Given the description of an element on the screen output the (x, y) to click on. 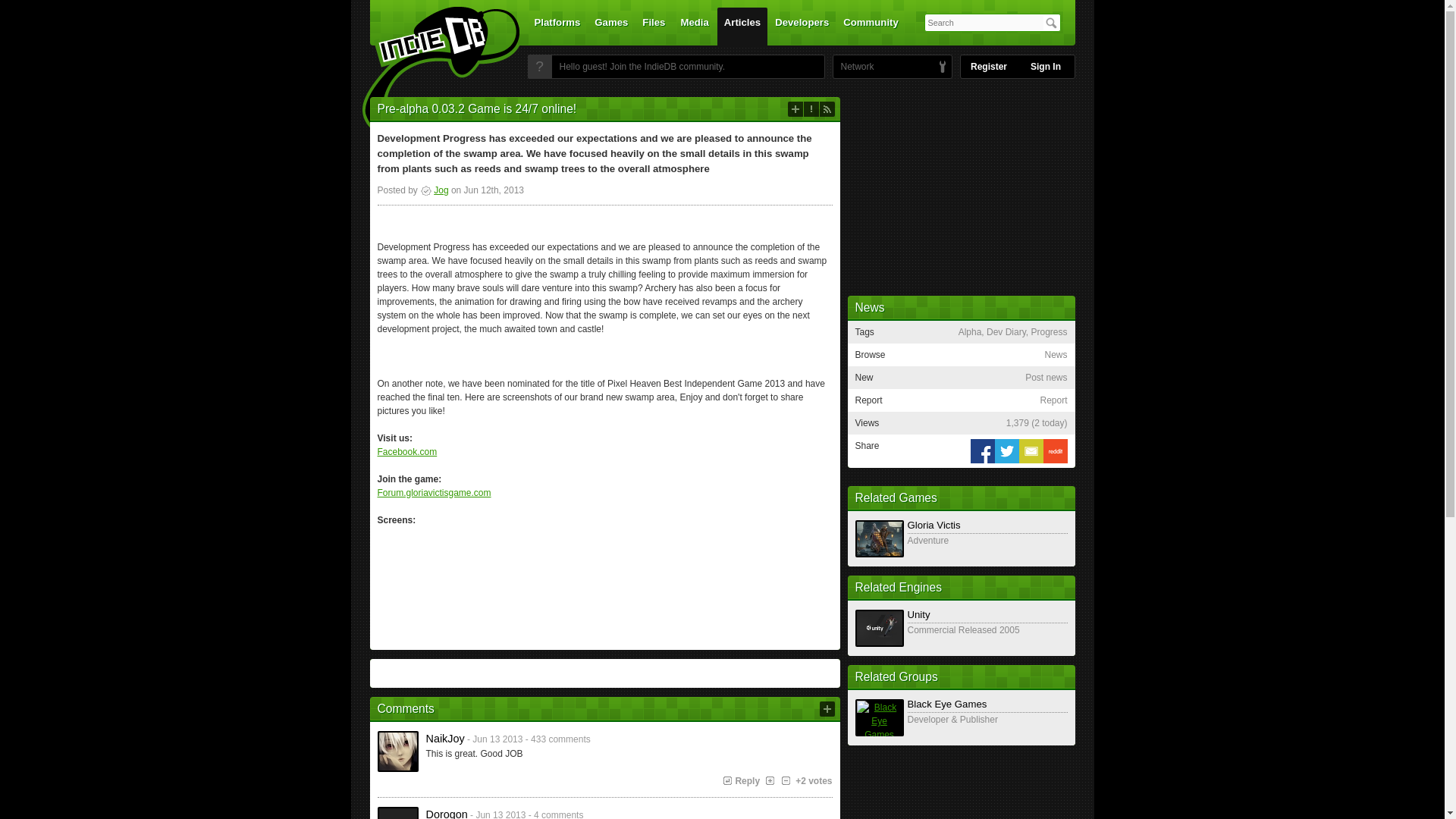
Platforms (557, 26)
Developers (801, 26)
DBolical (852, 66)
Join IndieDB (539, 66)
Home (430, 70)
Community (870, 26)
Post news (794, 109)
Article Manager (434, 190)
Files (652, 26)
